Given the description of an element on the screen output the (x, y) to click on. 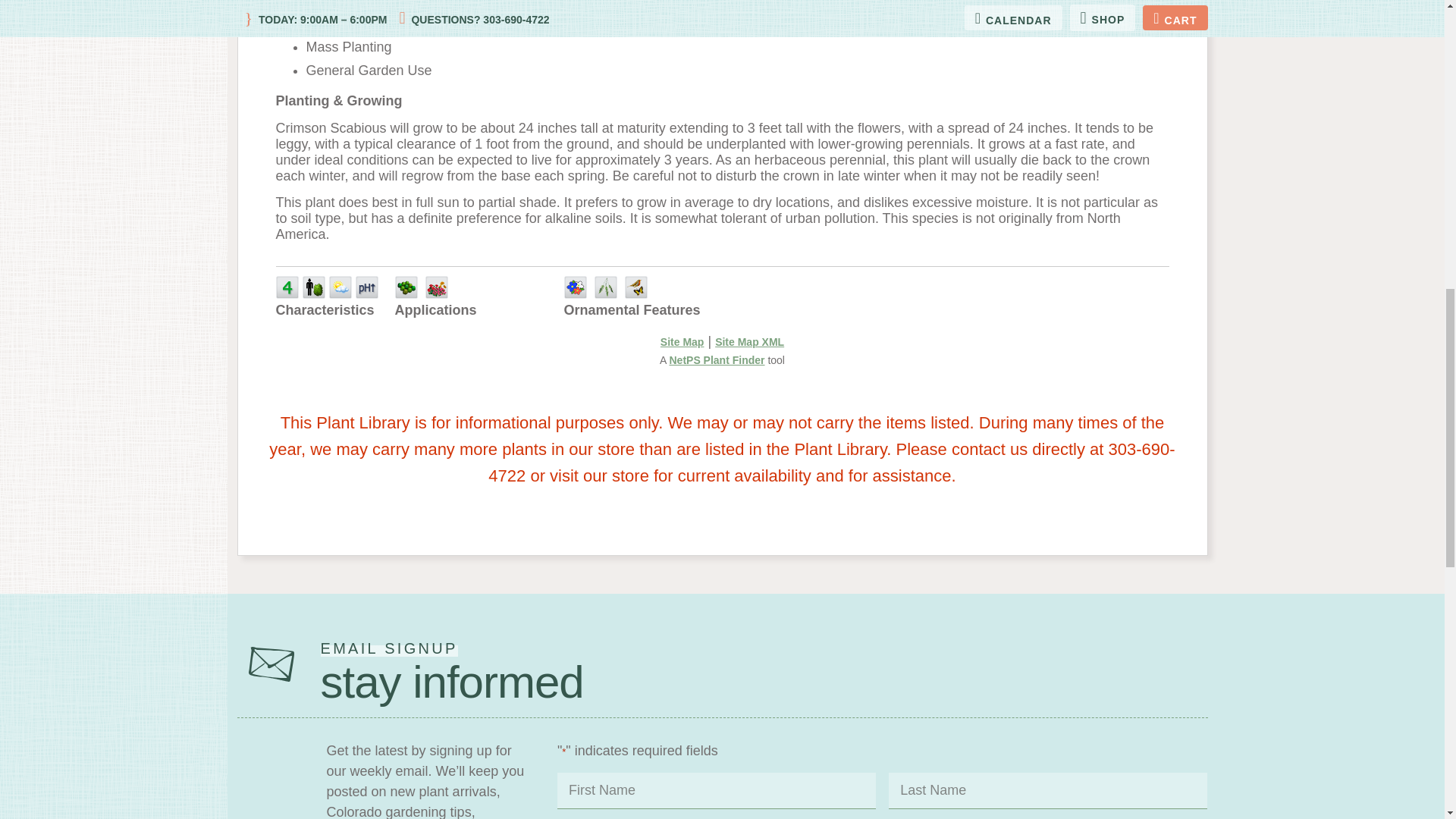
Soil pH Preference (366, 287)
Hardiness Zone (287, 287)
Texture (605, 287)
Minimum Sunlight (340, 287)
Flowers (575, 287)
Massing (405, 287)
Garden (436, 287)
Attracts Wildlife (635, 287)
Plant Height (313, 287)
